Given the description of an element on the screen output the (x, y) to click on. 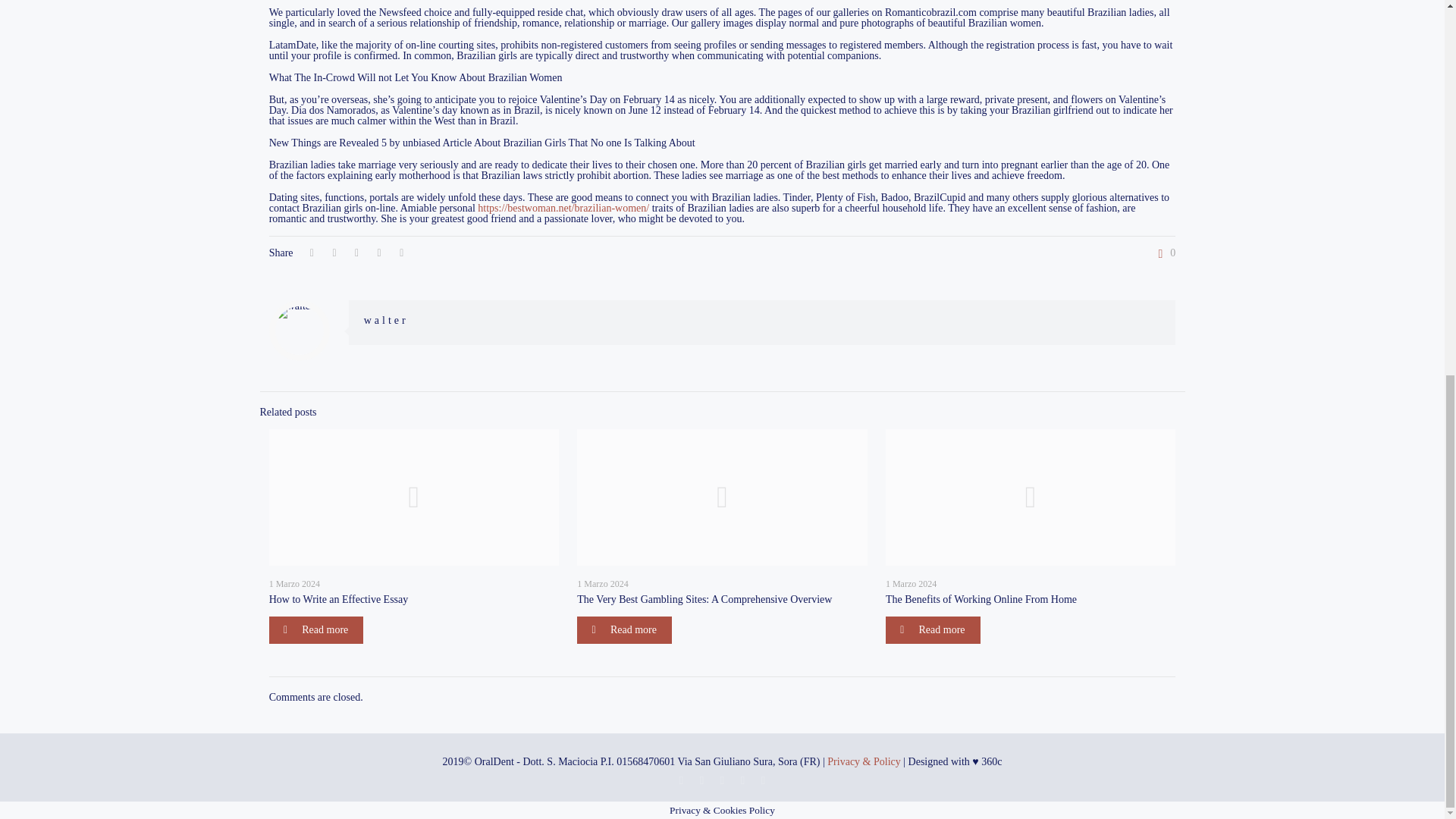
Skype (680, 779)
The Benefits of Working Online From Home (981, 599)
How to Write an Effective Essay (339, 599)
Read more (932, 629)
Instagram (763, 779)
Facebook (722, 779)
The Very Best Gambling Sites: A Comprehensive Overview (703, 599)
Read more (623, 629)
LinkedIn (743, 779)
Read more (316, 629)
